Given the description of an element on the screen output the (x, y) to click on. 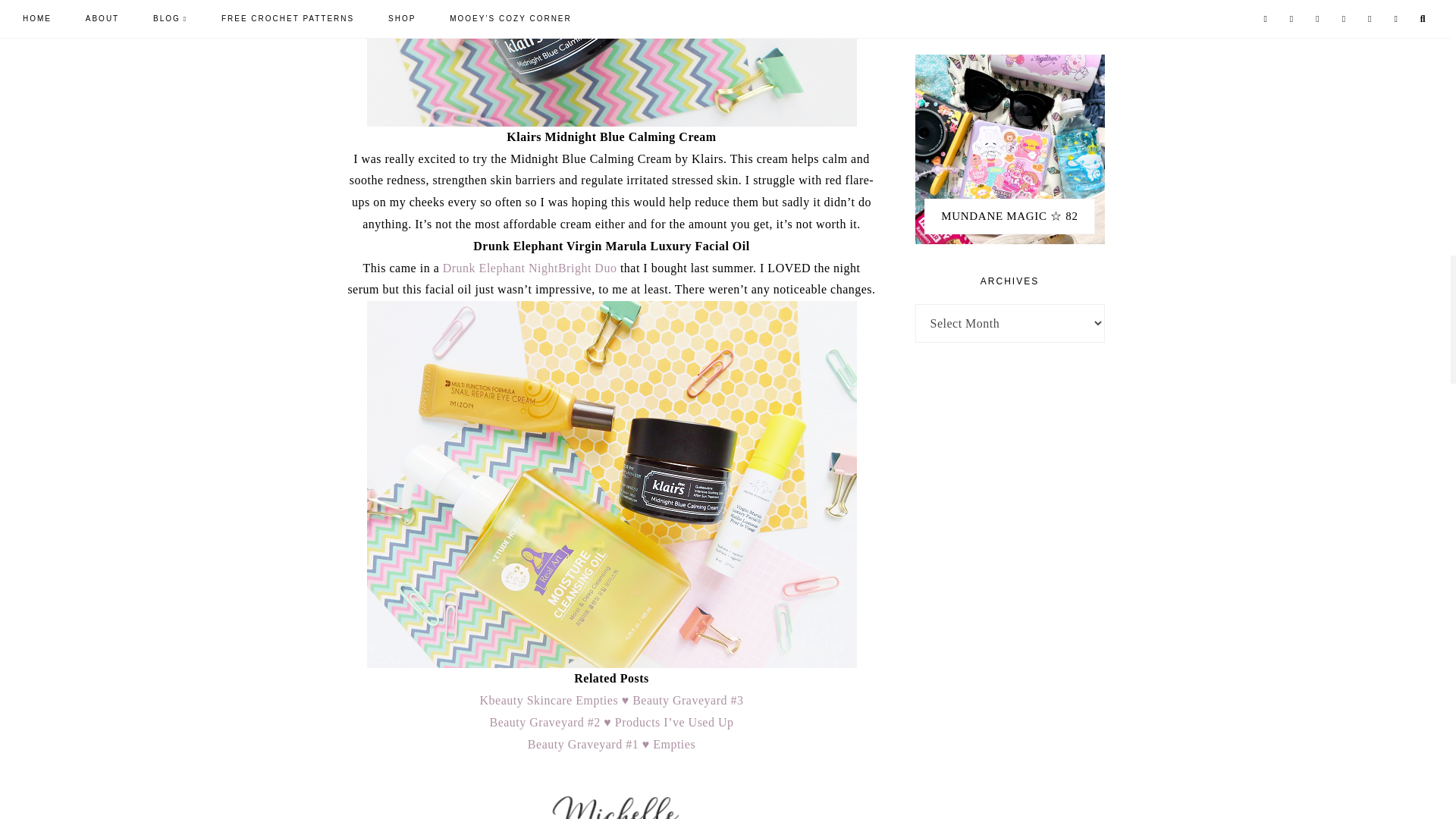
Skincare Empties (611, 63)
